Given the description of an element on the screen output the (x, y) to click on. 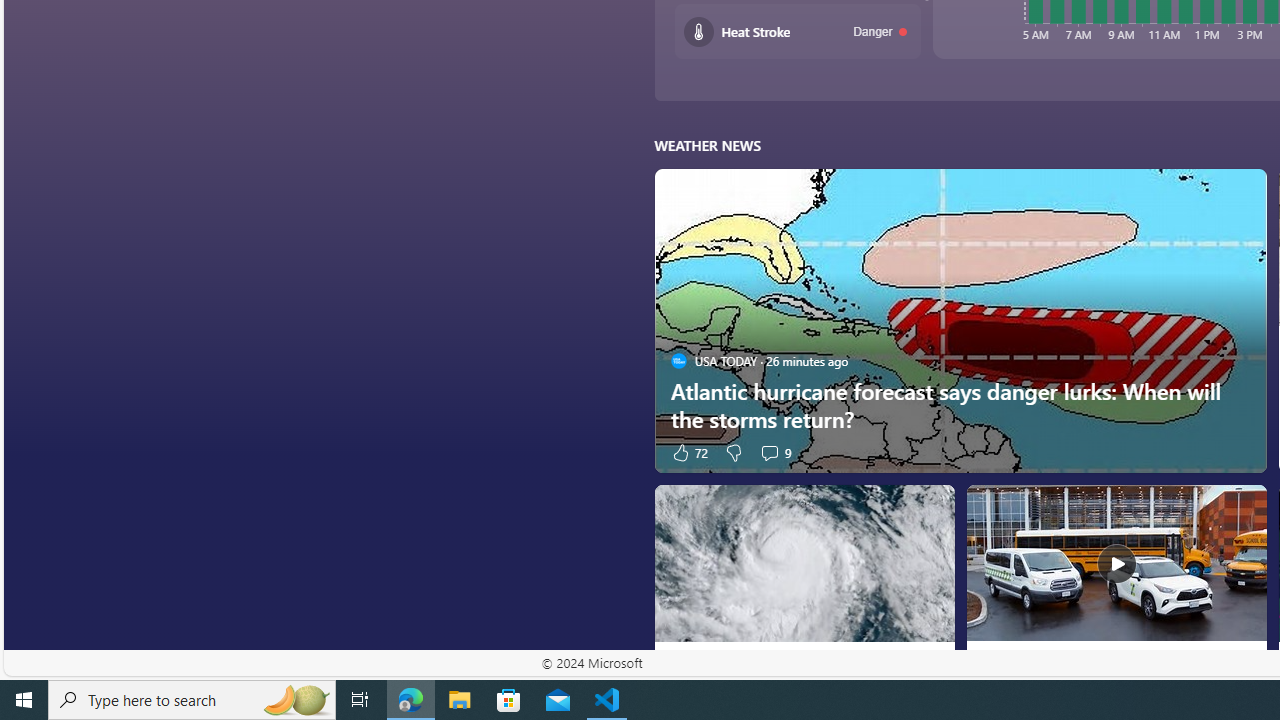
AccuWeather (989, 661)
View comments 9 Comment (774, 452)
See more (1242, 508)
Heat stroke Danger (797, 31)
USA TODAY (678, 661)
Dislike (733, 452)
View comments 9 Comment (769, 452)
72 Like (688, 452)
